Given the description of an element on the screen output the (x, y) to click on. 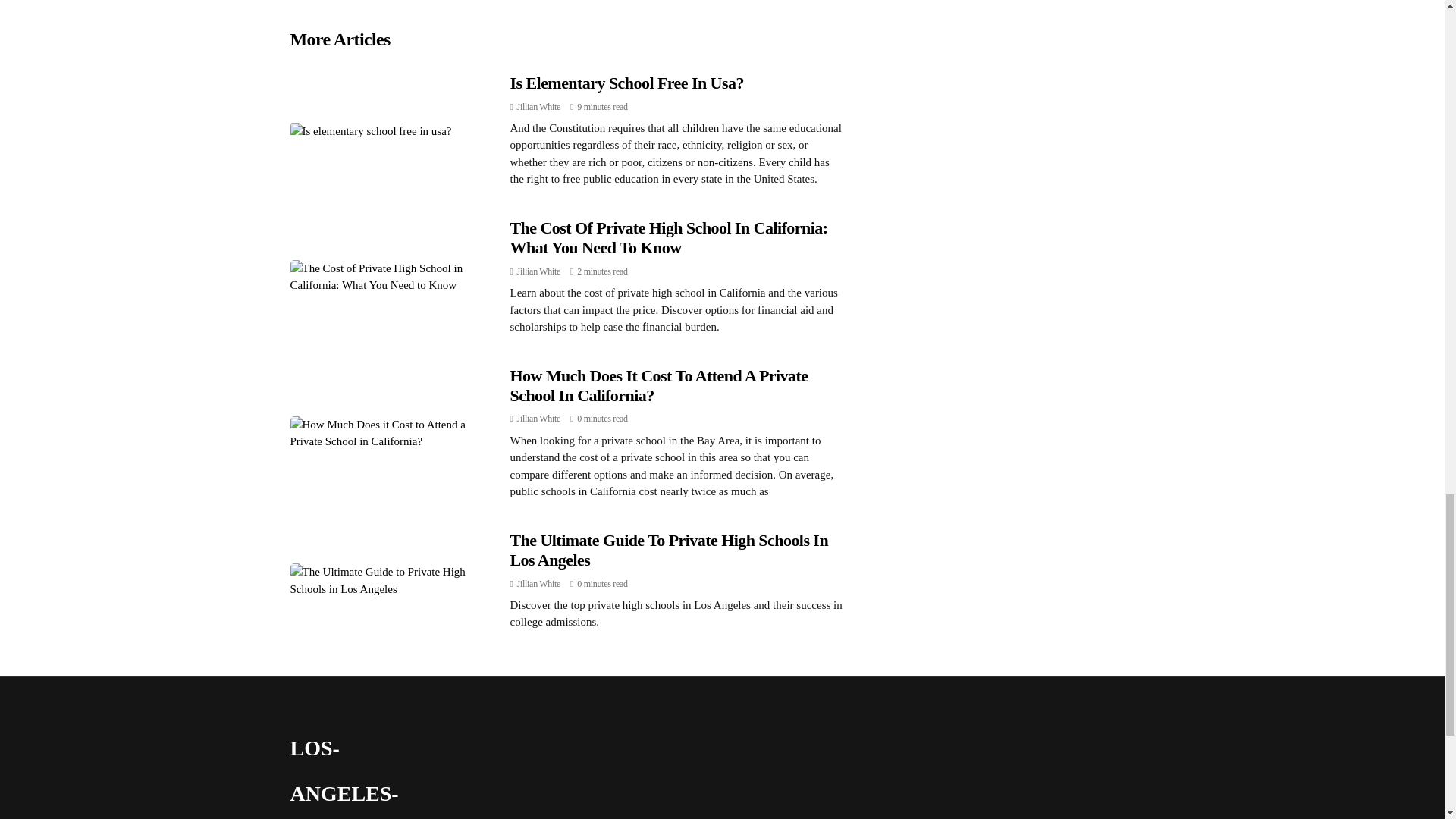
The Ultimate Guide To Private High Schools In Los Angeles (668, 549)
Posts by Jillian White (538, 106)
Is Elementary School Free In Usa? (625, 82)
Jillian White (538, 583)
Jillian White (538, 106)
Posts by Jillian White (538, 418)
Jillian White (538, 271)
Posts by Jillian White (538, 271)
Posts by Jillian White (538, 583)
Jillian White (538, 418)
